Given the description of an element on the screen output the (x, y) to click on. 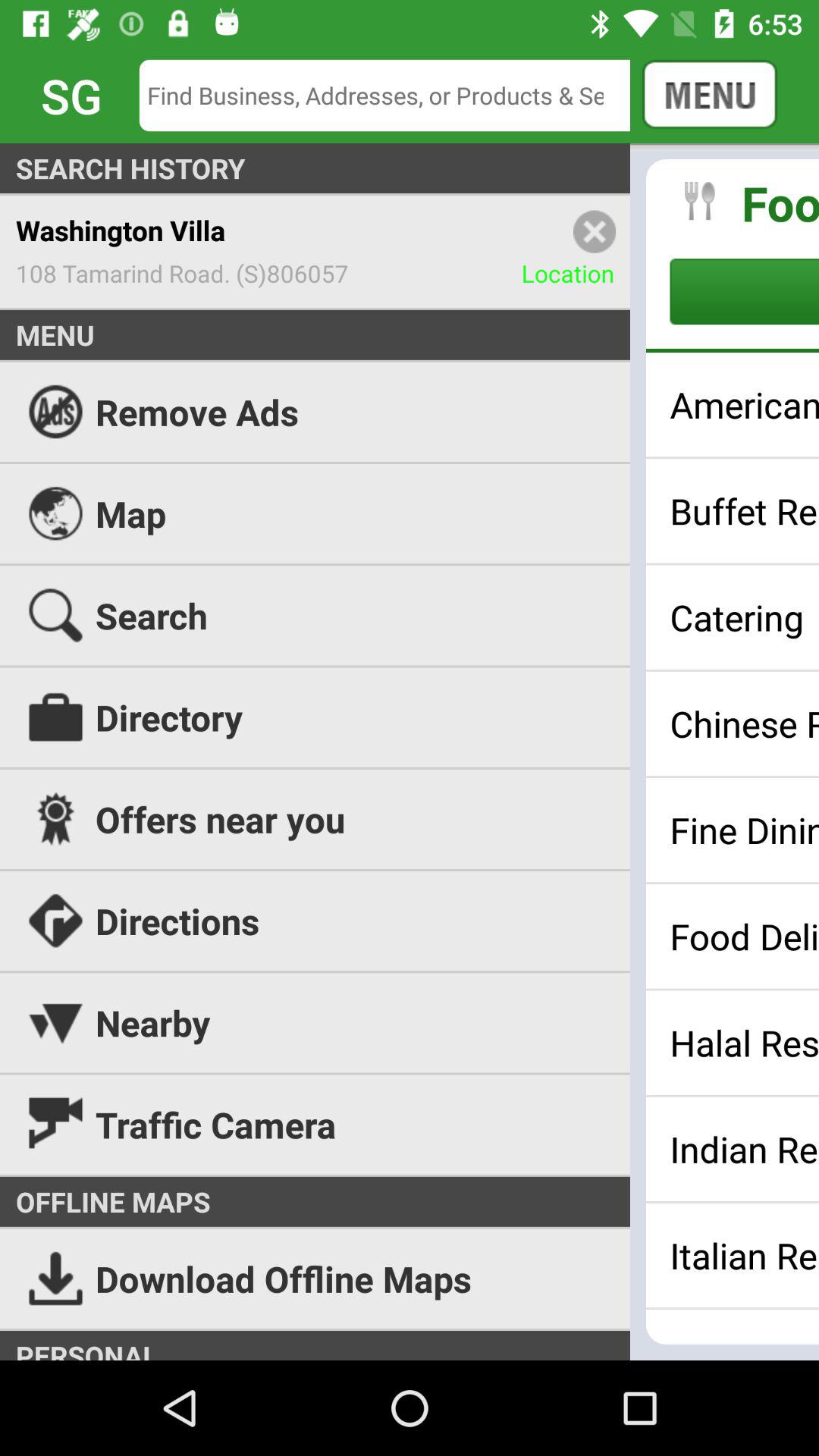
turn off buffet restaurants icon (744, 510)
